Given the description of an element on the screen output the (x, y) to click on. 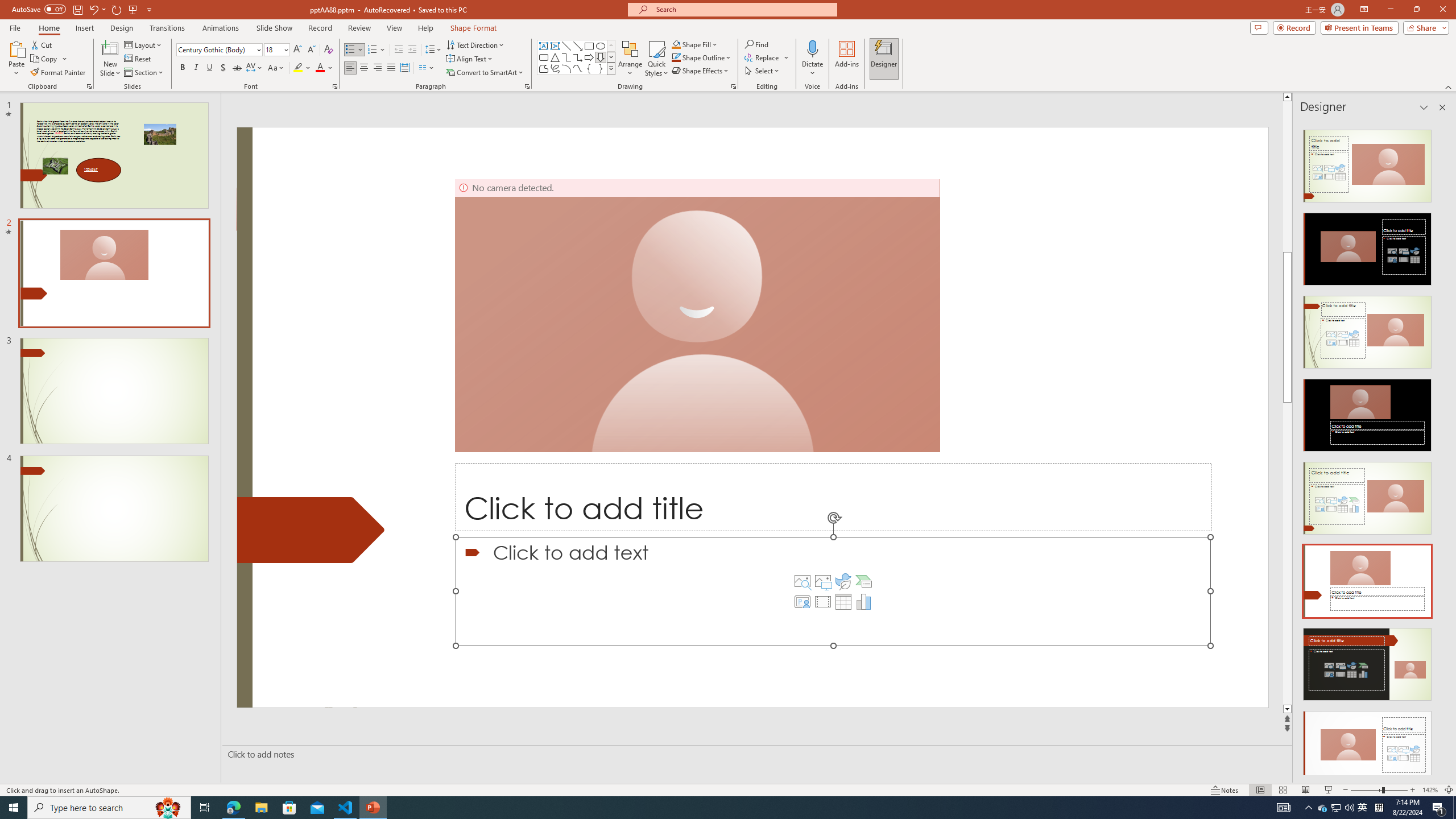
Shape Outline Teal, Accent 1 (675, 56)
Replace... (762, 56)
Center (363, 67)
File Tab (15, 27)
Underline (209, 67)
Restore Down (1416, 9)
Insert (83, 28)
Ribbon Display Options (1364, 9)
Record (1294, 27)
Justify (390, 67)
Office Clipboard... (88, 85)
Copy (45, 58)
Line down (1450, 709)
